Given the description of an element on the screen output the (x, y) to click on. 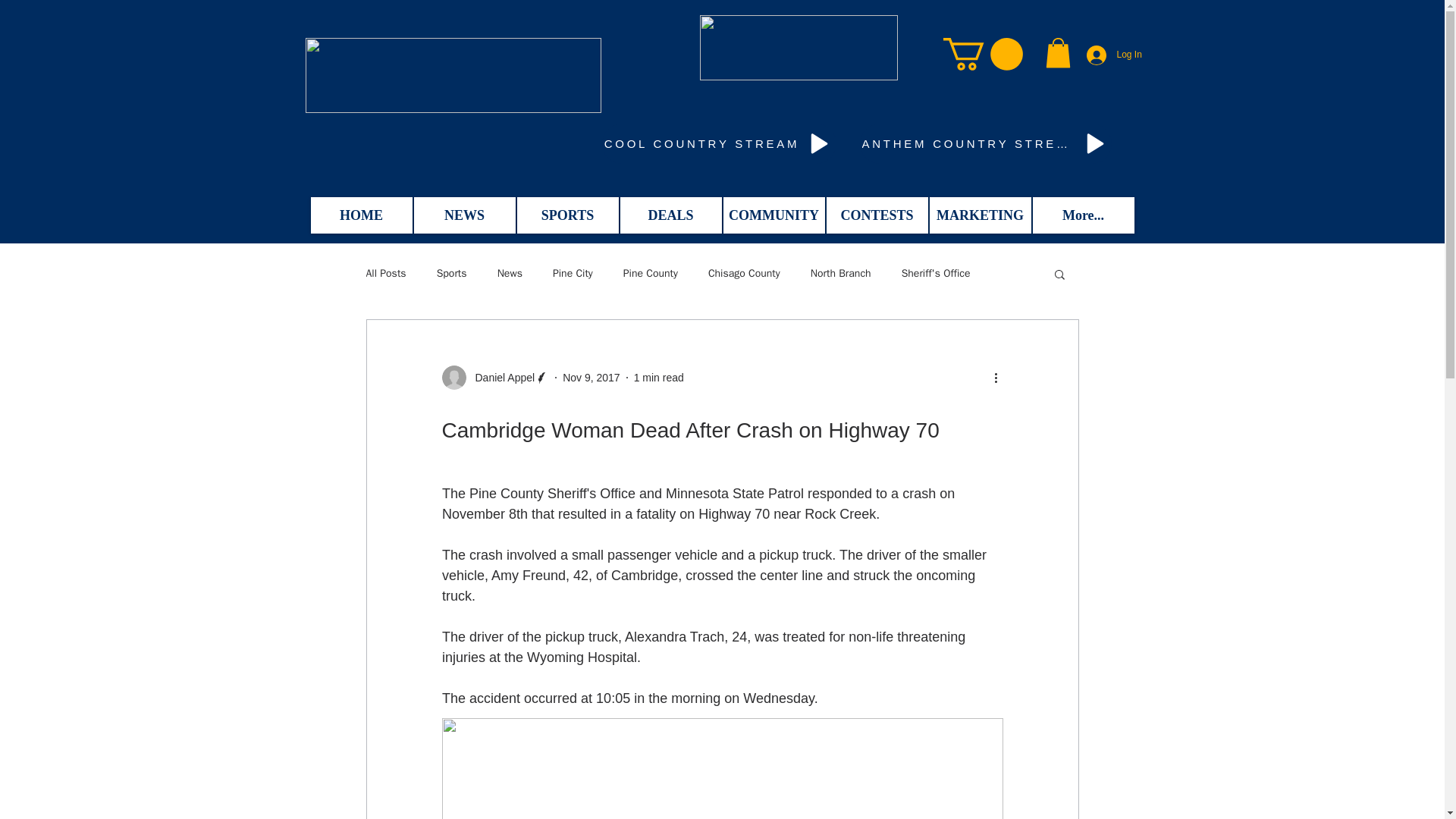
North Branch (840, 273)
COMMUNITY (774, 215)
1 min read (658, 377)
Nov 9, 2017 (591, 377)
NEWS (464, 215)
MARKETING (980, 215)
SPORTS (567, 215)
ANTHEM COUNTRY STREAM (986, 143)
DEALS (671, 215)
Log In (1112, 54)
